Given the description of an element on the screen output the (x, y) to click on. 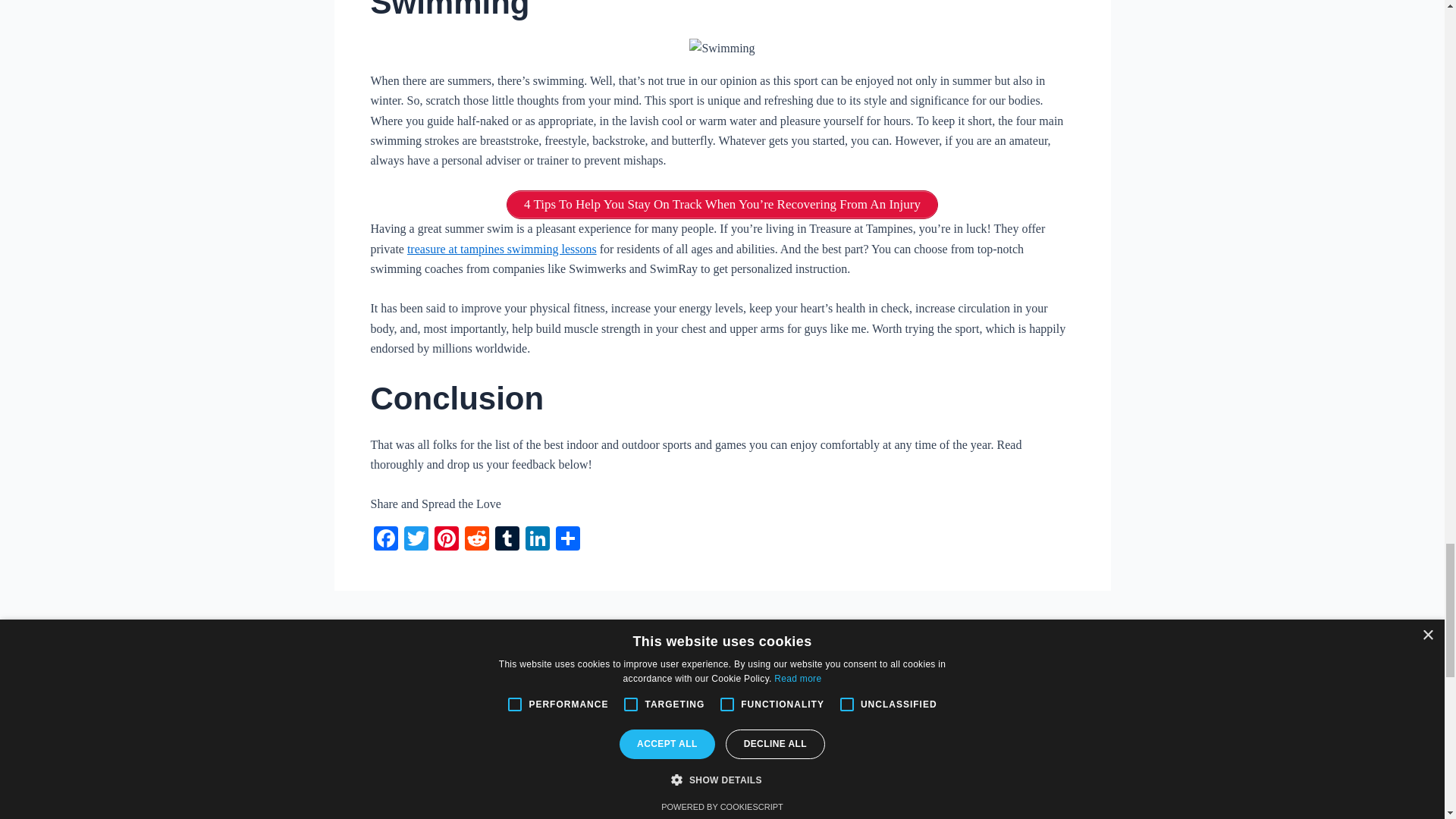
LinkedIn (536, 540)
The Magic of a Good Dog Bed (1077, 624)
Pinterest (445, 540)
Tumblr (506, 540)
Facebook (384, 540)
Twitter (415, 540)
Facebook (384, 540)
Tumblr (506, 540)
treasure at tampines swimming lessons (501, 248)
Share (566, 540)
Pinterest (445, 540)
Reddit (476, 540)
Twitter (415, 540)
LinkedIn (536, 540)
